Given the description of an element on the screen output the (x, y) to click on. 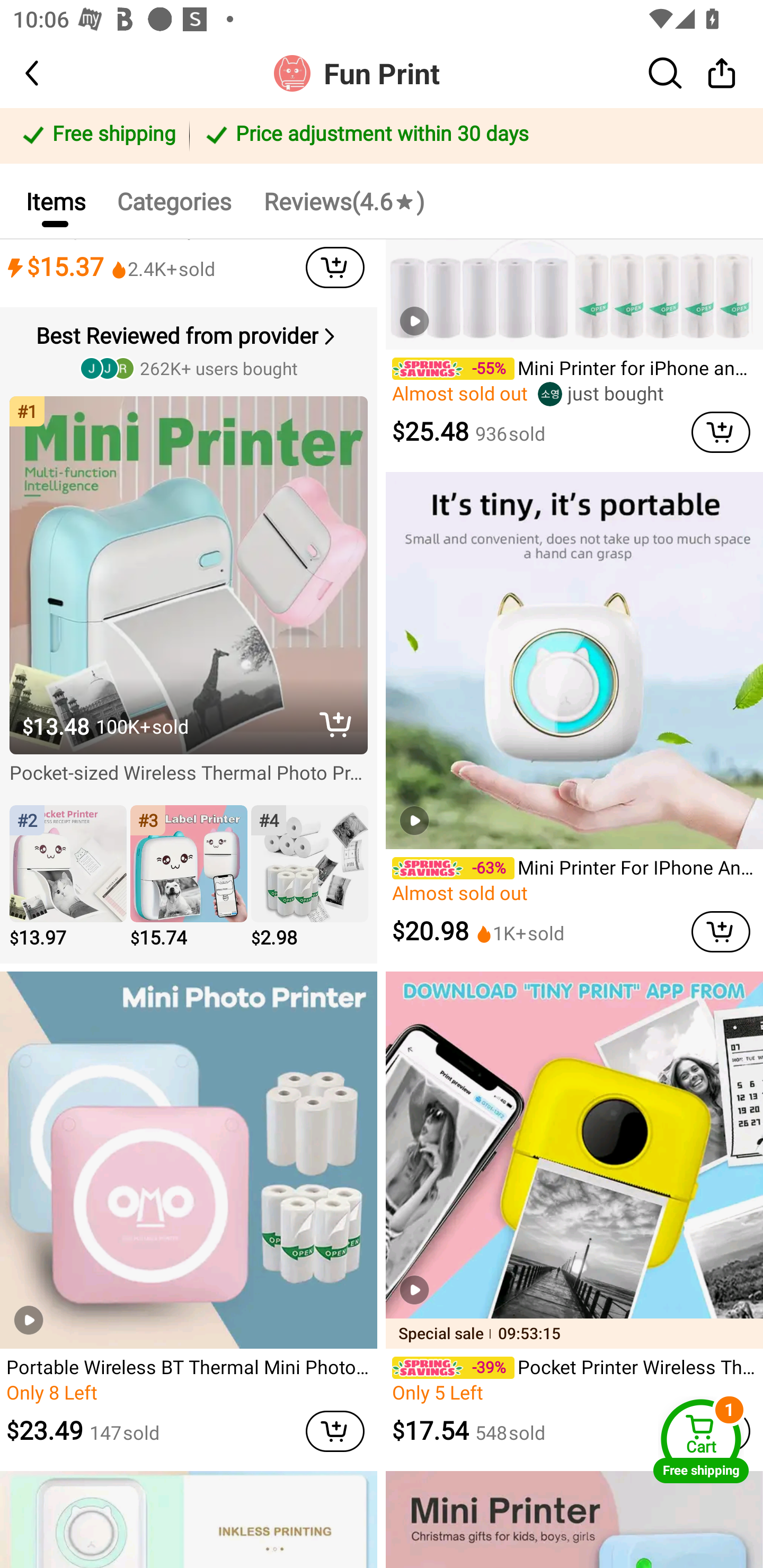
back (47, 72)
share (721, 72)
Free shipping (97, 135)
Price adjustment within 30 days (472, 135)
Items (55, 200)
Categories (174, 200)
Reviews(4.6 ) (343, 200)
cart delete (334, 267)
Best Reviewed from provider 262K+ users bought (190, 350)
cart delete (720, 431)
delete (335, 724)
#2 $13.97 (67, 877)
#3 $15.74 (188, 877)
#4 $2.98 (309, 877)
cart delete (720, 931)
Cart Free shipping Cart (701, 1440)
cart delete (334, 1431)
